Given the description of an element on the screen output the (x, y) to click on. 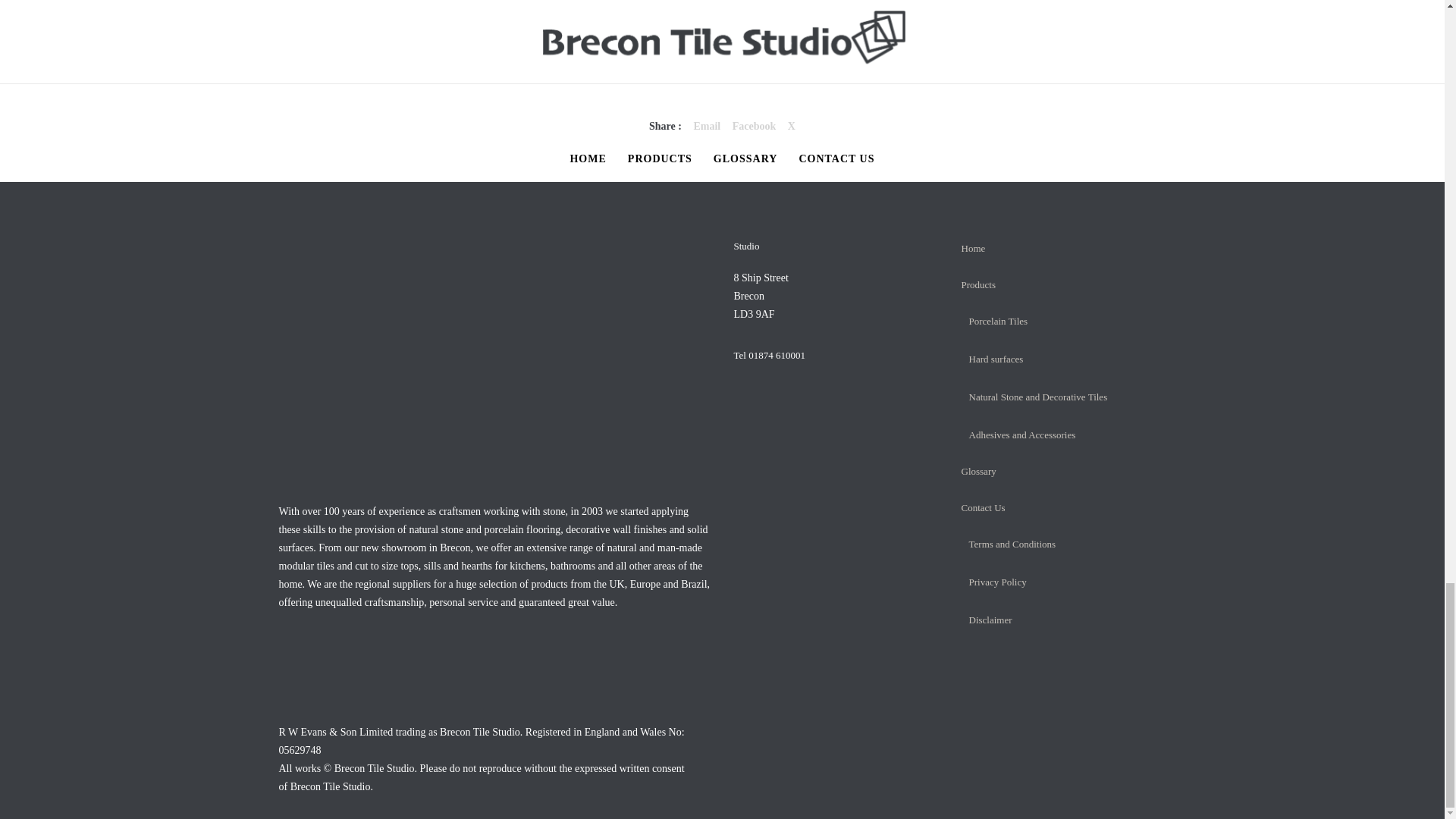
Coem Goldenstone (754, 126)
Facebook (754, 126)
Email (706, 126)
Terms and Conditions (1013, 543)
Coem Goldenstone (706, 126)
Hard surfaces (996, 358)
Natural Stone and Decorative Tiles (1038, 396)
Products (977, 284)
Adhesives and Accessories (1022, 434)
Home (972, 247)
